Given the description of an element on the screen output the (x, y) to click on. 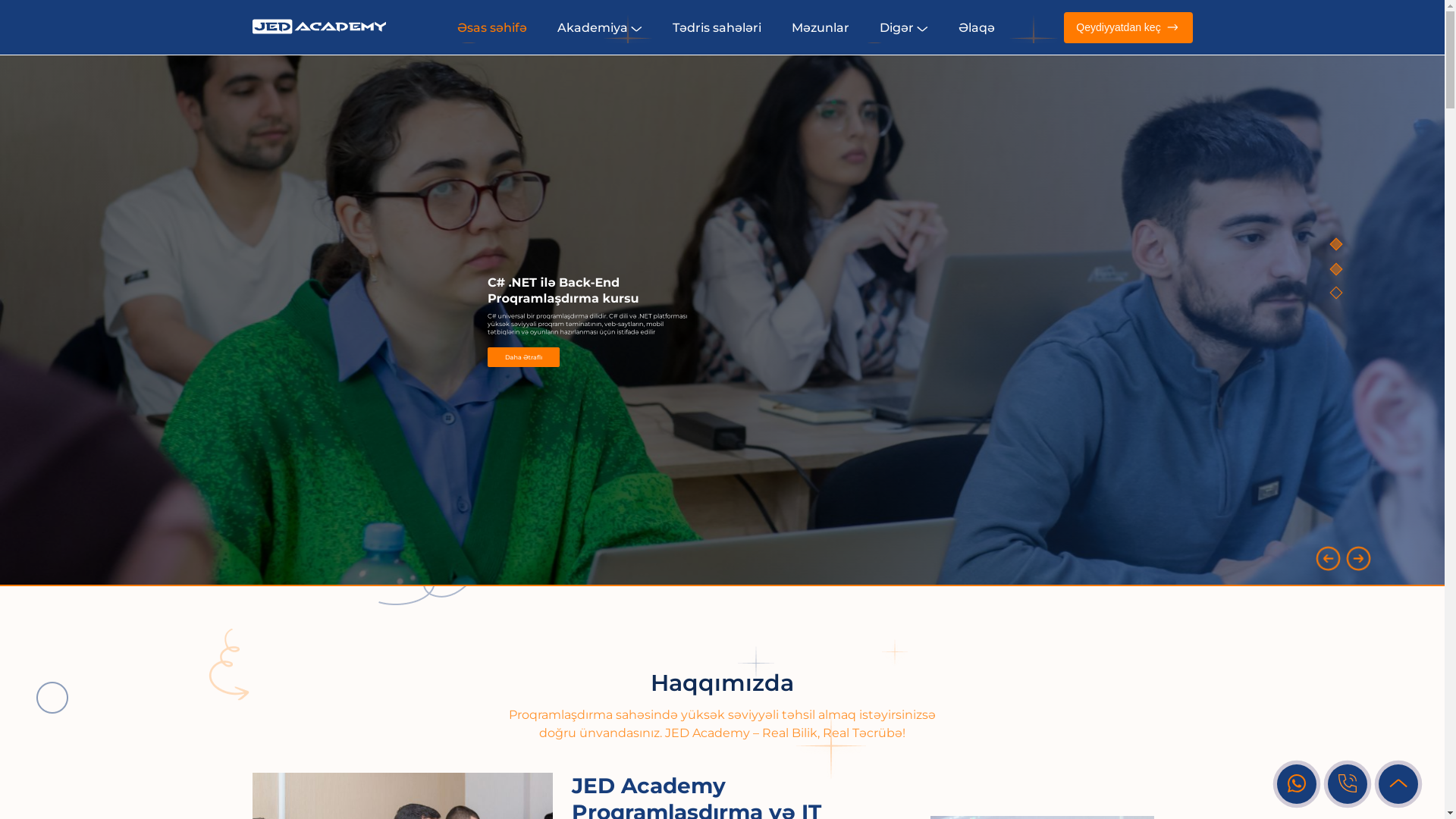
Akademiya Element type: text (599, 26)
